Given the description of an element on the screen output the (x, y) to click on. 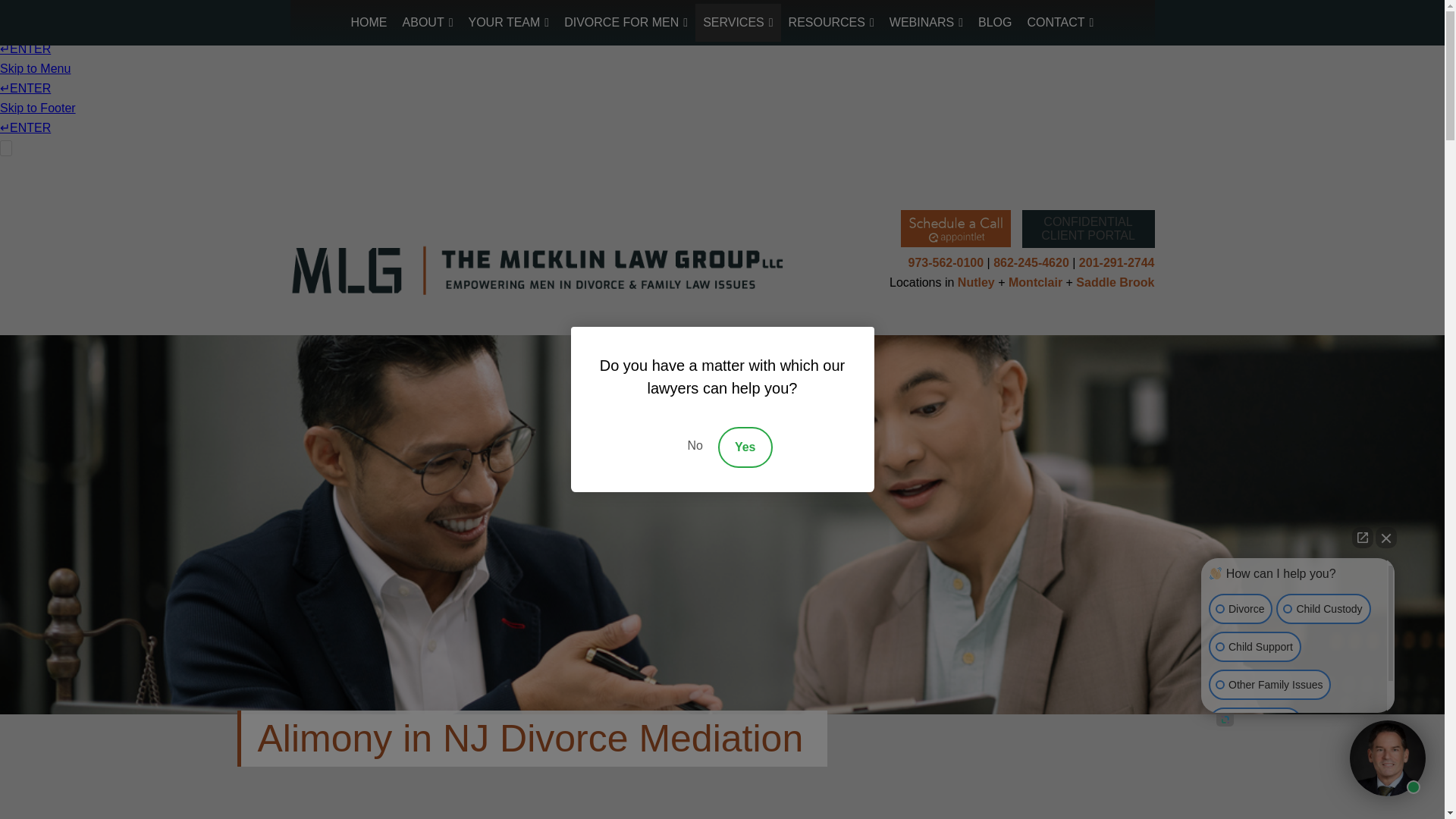
YOUR TEAM (509, 22)
SERVICES (737, 22)
HOME (368, 22)
DIVORCE FOR MEN (625, 22)
Confidential Client Portal (1088, 228)
ABOUT (427, 22)
